Given the description of an element on the screen output the (x, y) to click on. 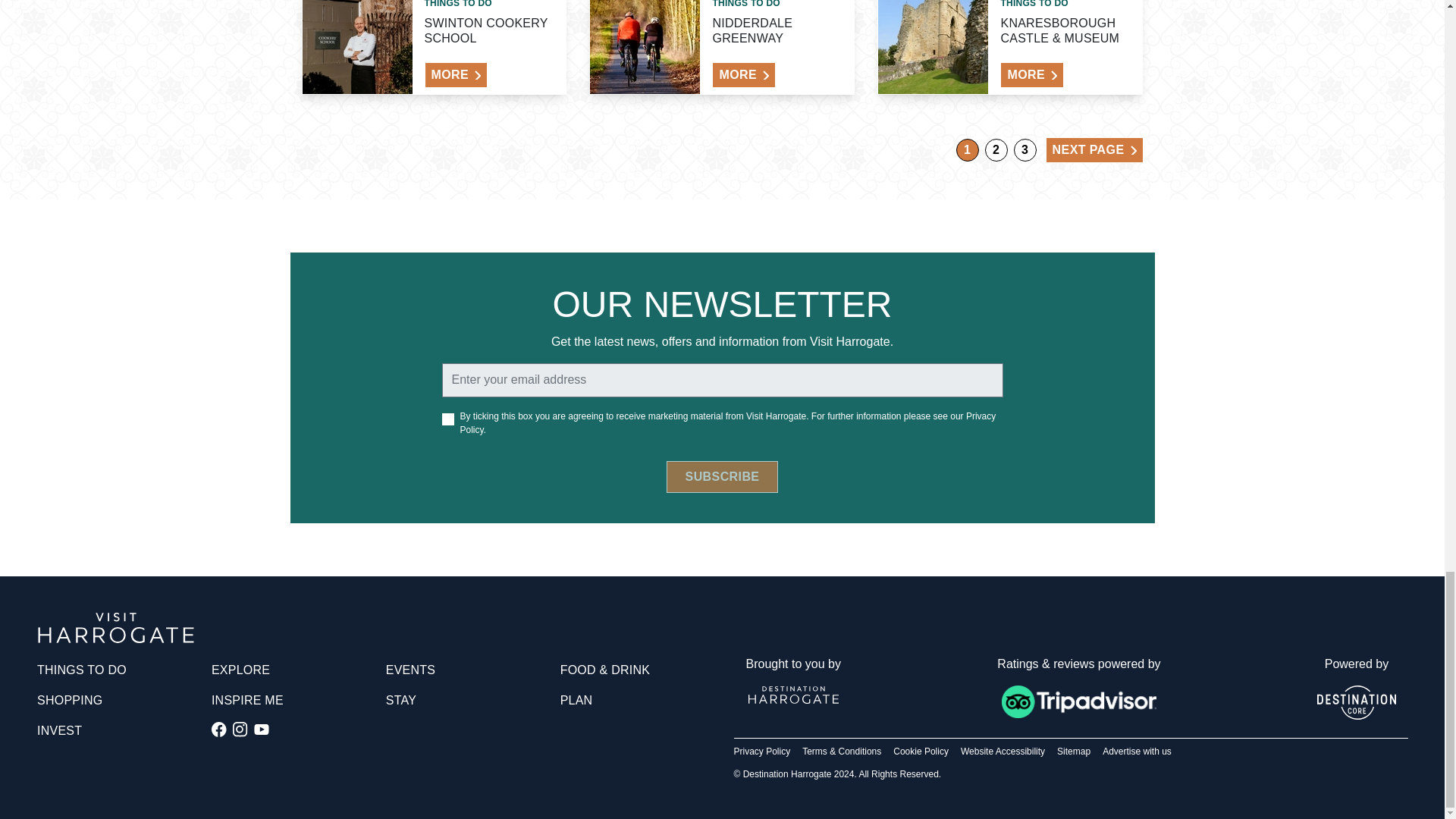
yes (446, 419)
